Given the description of an element on the screen output the (x, y) to click on. 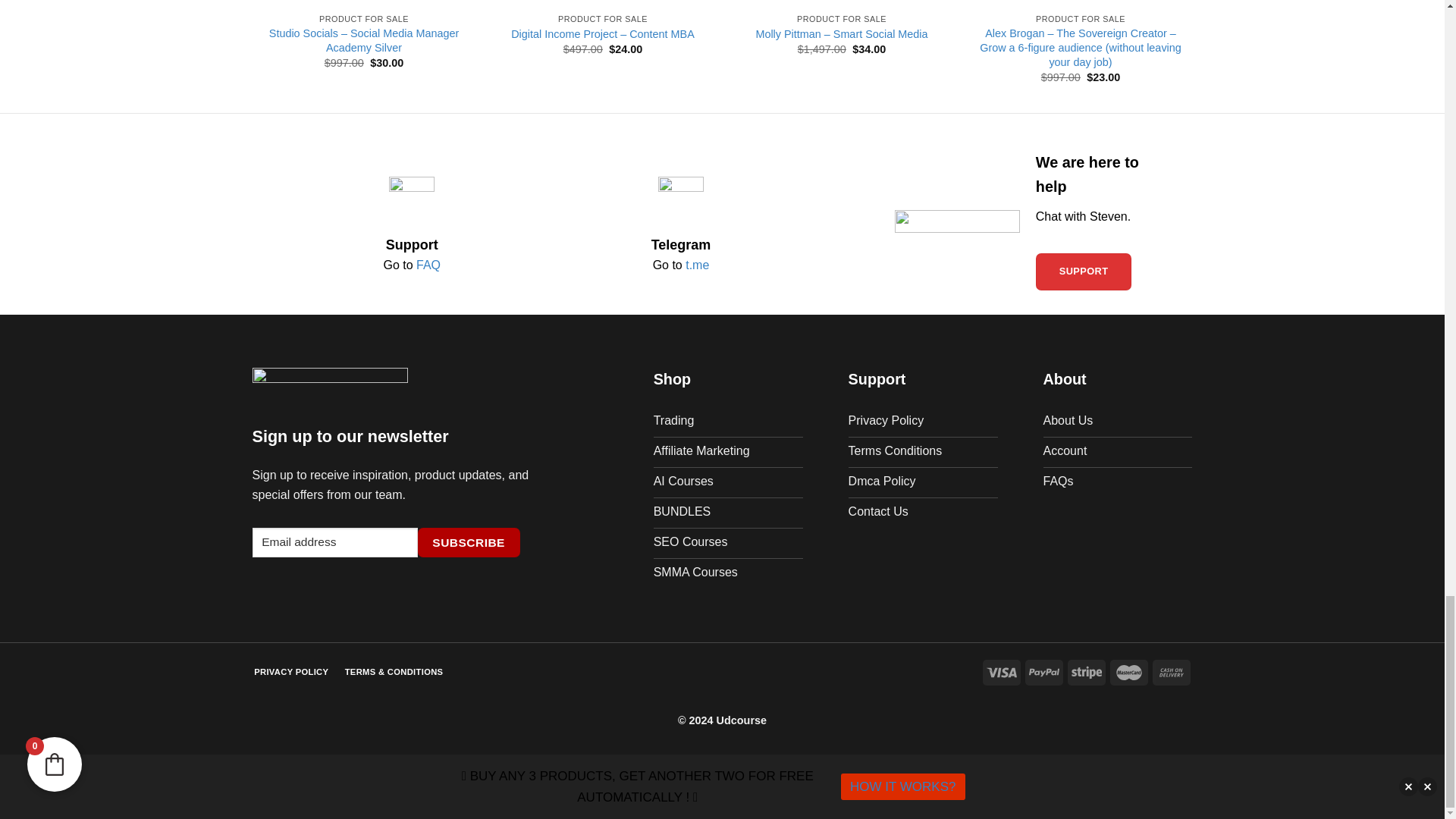
Email address (333, 542)
